Given the description of an element on the screen output the (x, y) to click on. 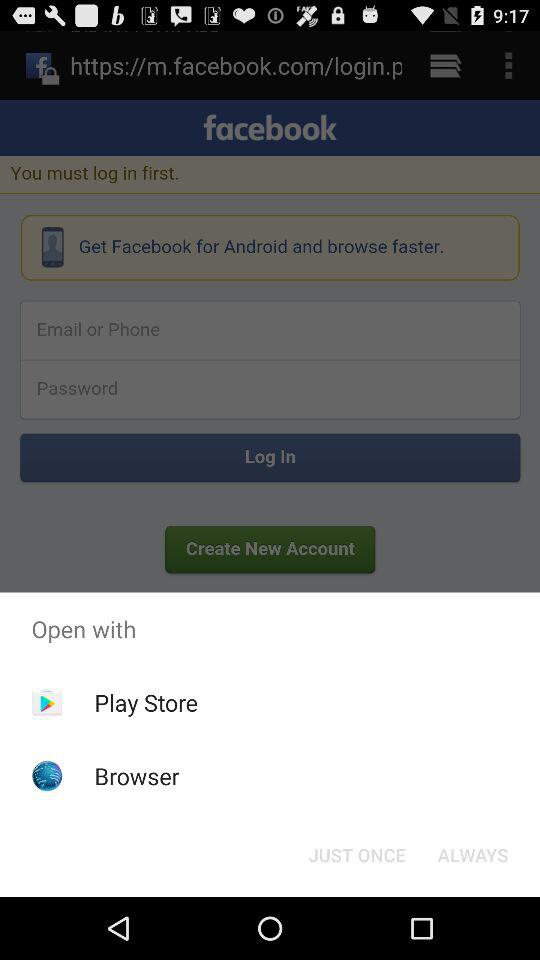
choose the browser (136, 775)
